Given the description of an element on the screen output the (x, y) to click on. 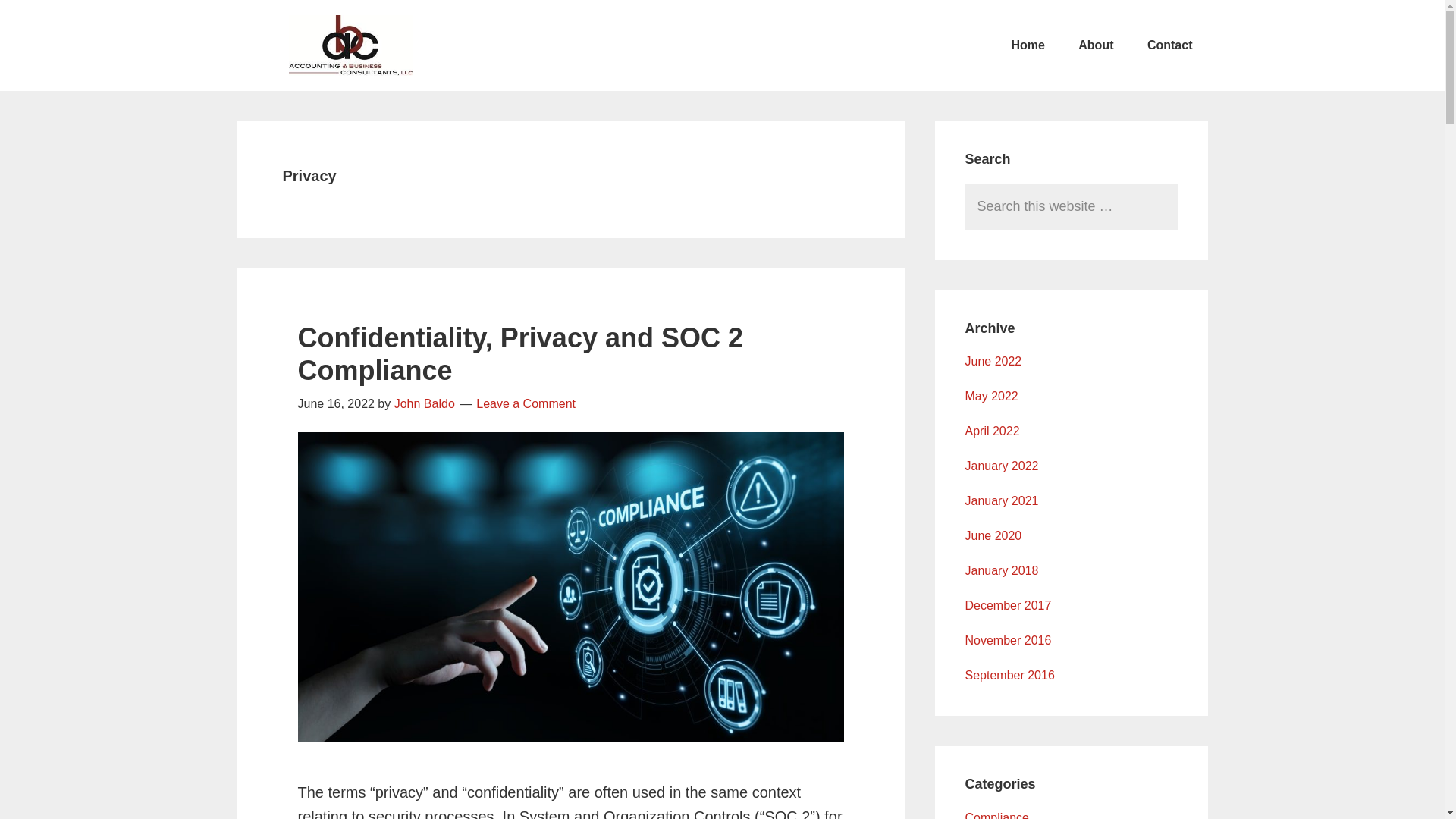
John Baldo (424, 403)
Leave a Comment (525, 403)
About (1095, 45)
Home (1027, 45)
Contact (1170, 45)
Confidentiality, Privacy and SOC 2 Compliance (519, 353)
